Given the description of an element on the screen output the (x, y) to click on. 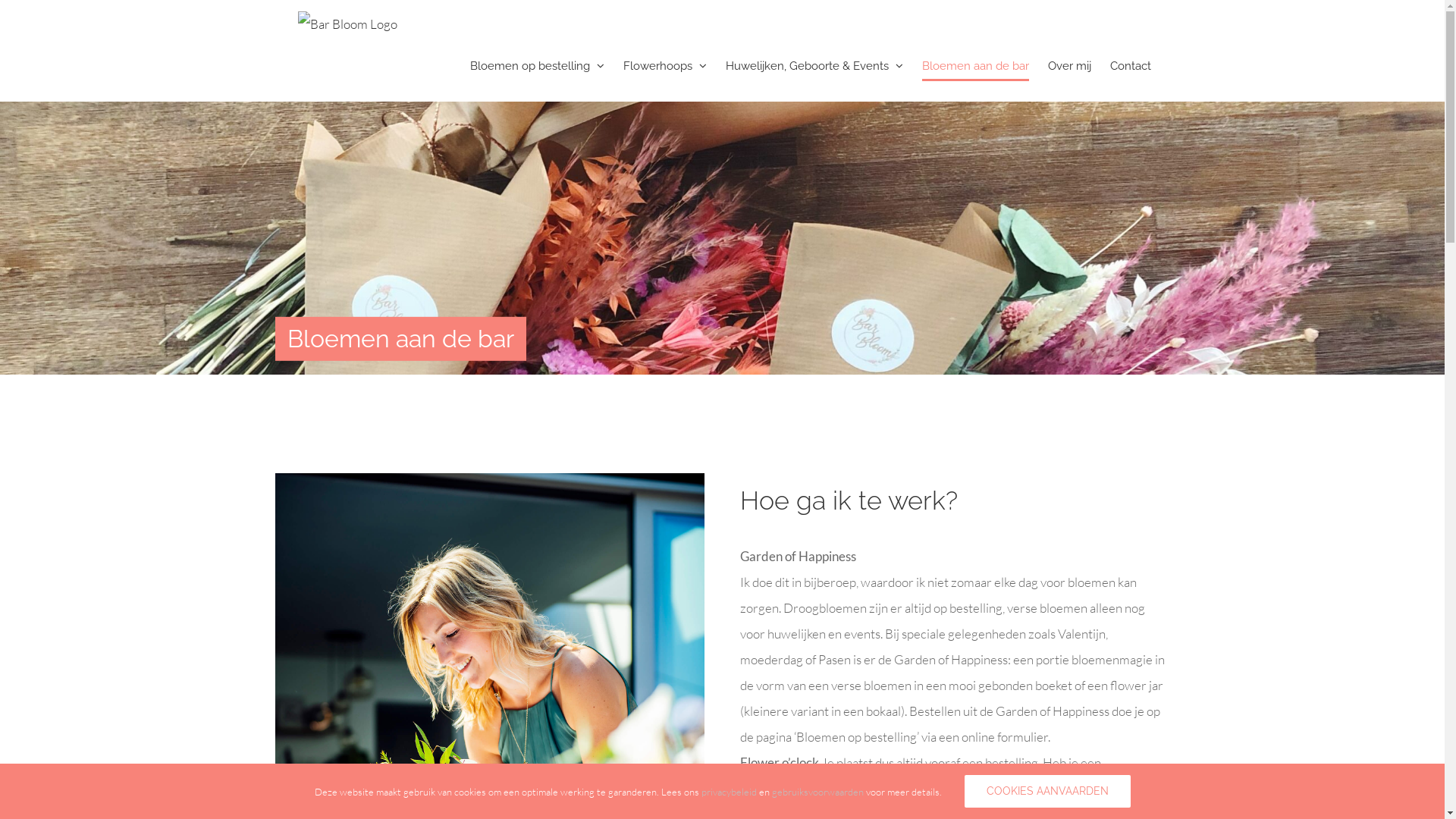
Huwelijken, Geboorte & Events Element type: text (813, 65)
Over mij Element type: text (1069, 65)
Flowerhoops Element type: text (664, 65)
gebruiksvoorwaarden Element type: text (817, 791)
Bloemen op bestelling Element type: text (537, 65)
Contact Element type: text (1130, 65)
COOKIES AANVAARDEN Element type: text (1047, 791)
privacybeleid Element type: text (728, 791)
Bloemen aan de bar Element type: text (975, 65)
